Given the description of an element on the screen output the (x, y) to click on. 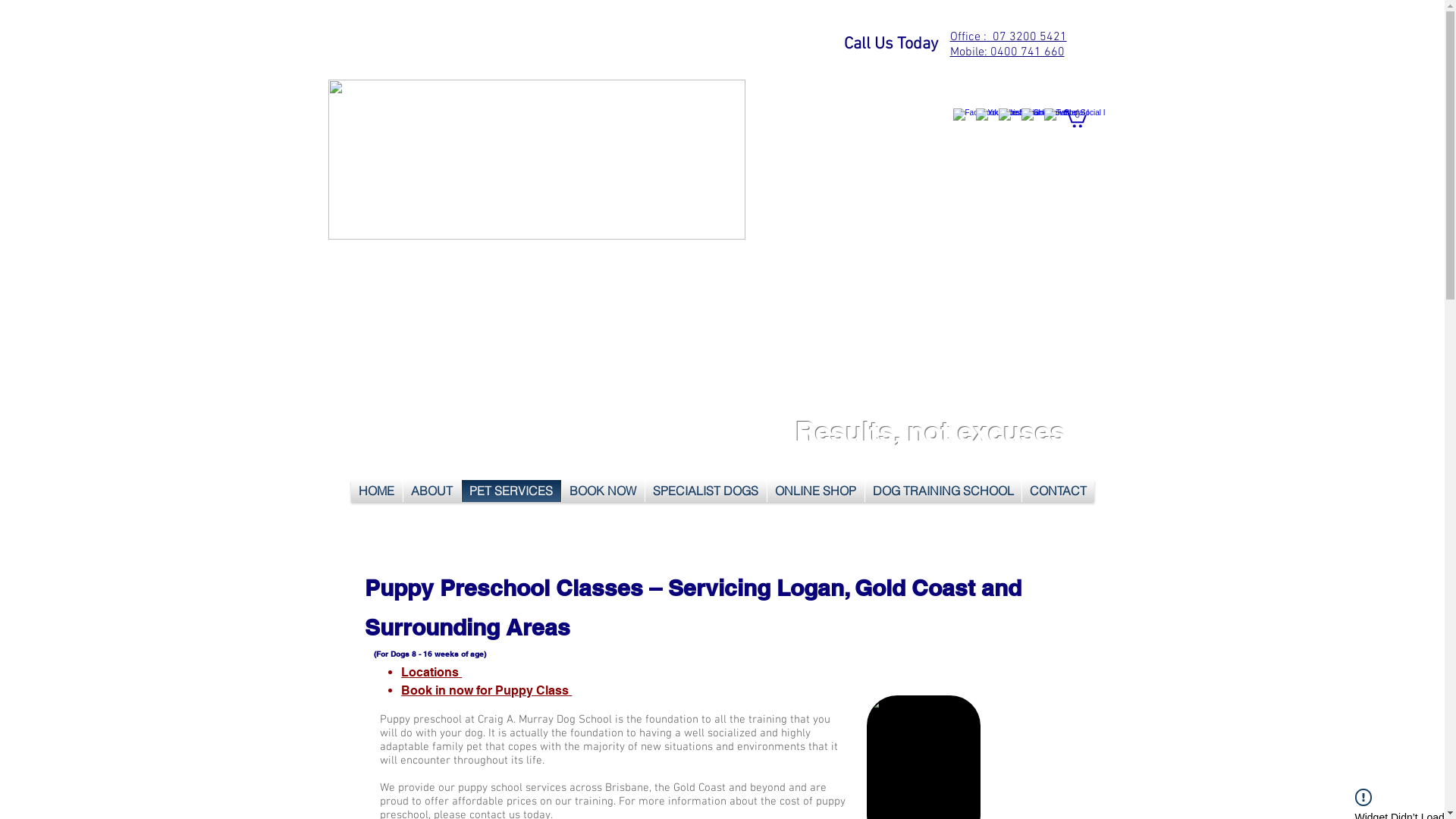
Book in now for Puppy Class  Element type: text (486, 691)
BOOK NOW Element type: text (602, 491)
HOME Element type: text (375, 491)
CONTACT Element type: text (1058, 491)
Office :  07 3200 5421 Element type: text (1007, 36)
ONLINE SHOP Element type: text (815, 491)
Locations  Element type: text (431, 671)
PET SERVICES Element type: text (510, 491)
ABOUT Element type: text (432, 491)
Mobile: 0400 741 660 Element type: text (1006, 51)
0 Element type: text (1074, 117)
SPECIALIST DOGS Element type: text (704, 491)
DOG TRAINING SCHOOL Element type: text (942, 491)
